Given the description of an element on the screen output the (x, y) to click on. 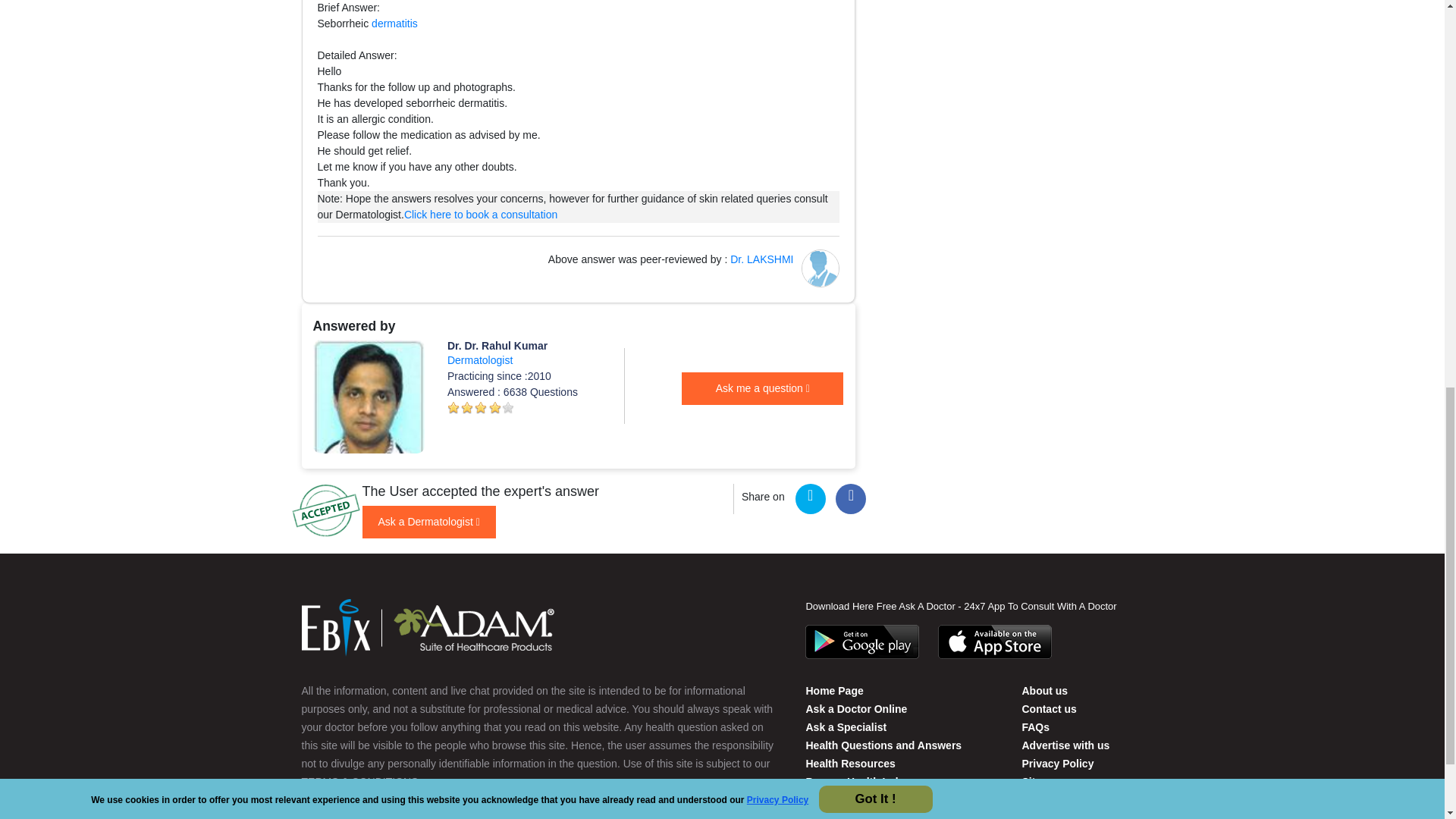
Privacy Policy (1057, 763)
Home Page (834, 690)
FAQs (1035, 727)
Sitemap (1042, 781)
Browse Health Indexes (863, 781)
Recently Updated Questions (877, 799)
Contact us (1044, 690)
Health Resources (850, 763)
Advertise with us (1065, 745)
Contact us (1048, 708)
Health Questions and Answers (882, 745)
Health Blog (816, 815)
Ask a Doctor Online (856, 708)
Ask a Specialist (845, 727)
